Given the description of an element on the screen output the (x, y) to click on. 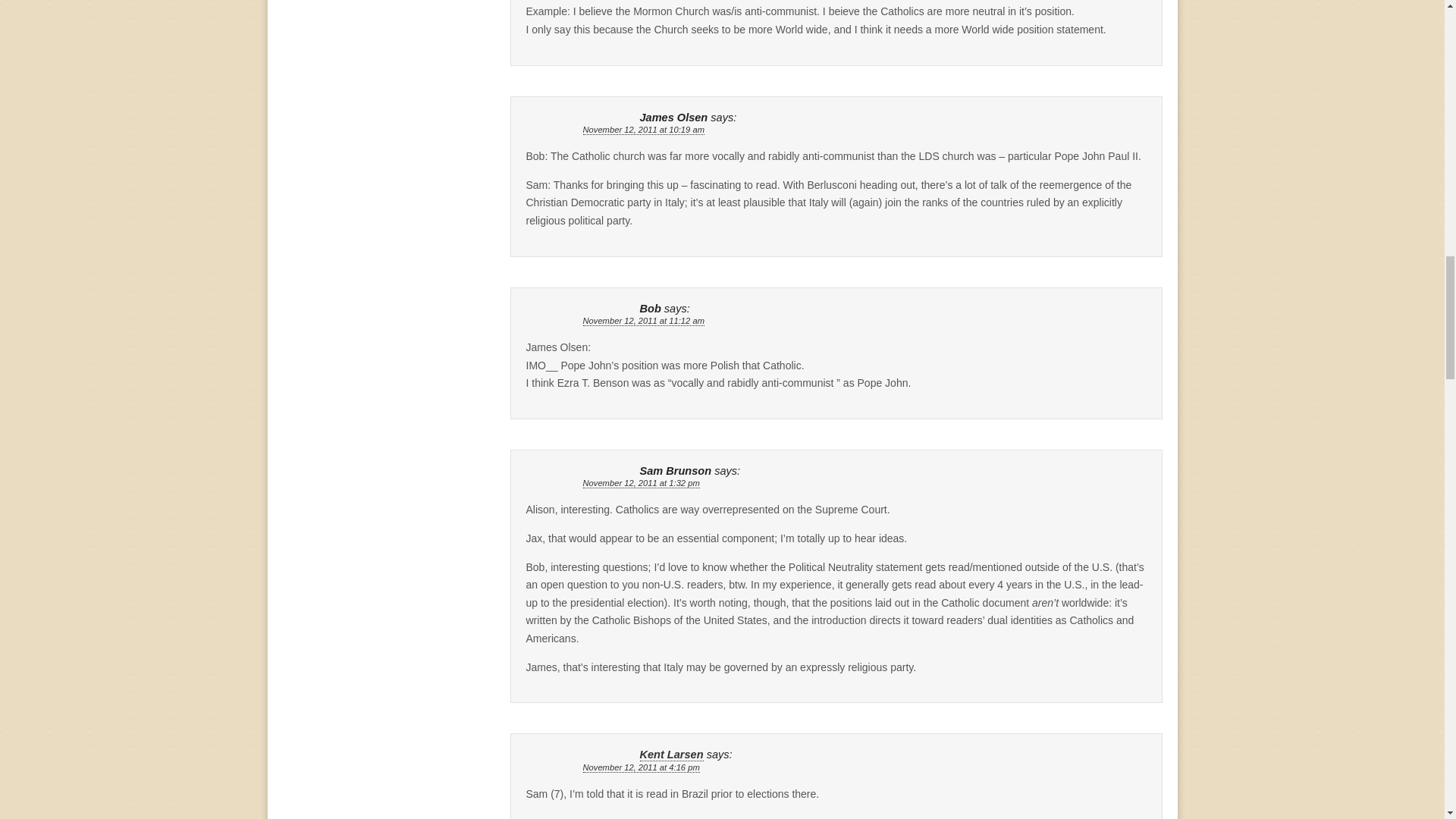
November 12, 2011 at 10:19 am (642, 130)
